Given the description of an element on the screen output the (x, y) to click on. 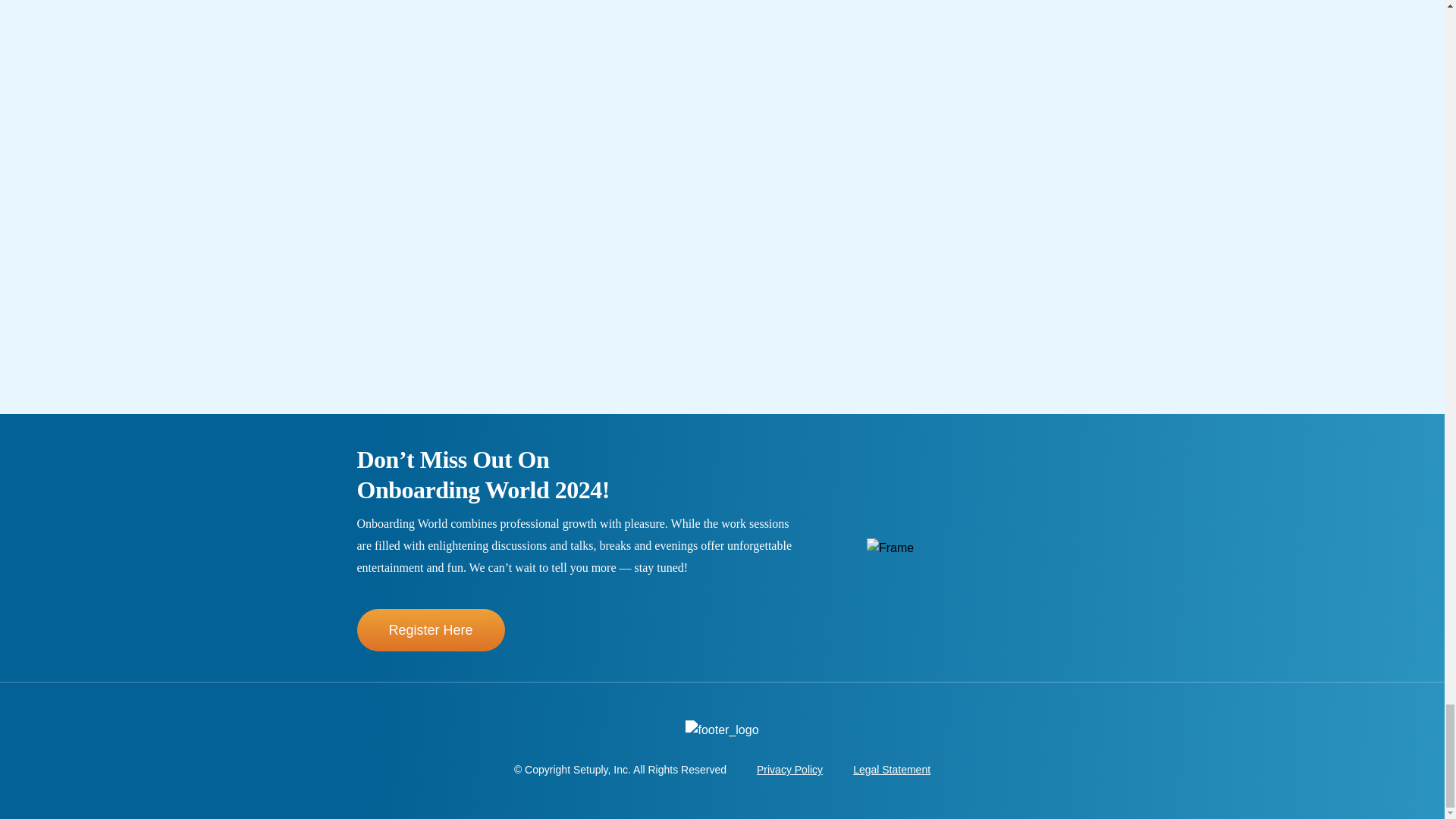
Legal Statement (891, 769)
Register Here (429, 630)
Privacy Policy (789, 769)
